Given the description of an element on the screen output the (x, y) to click on. 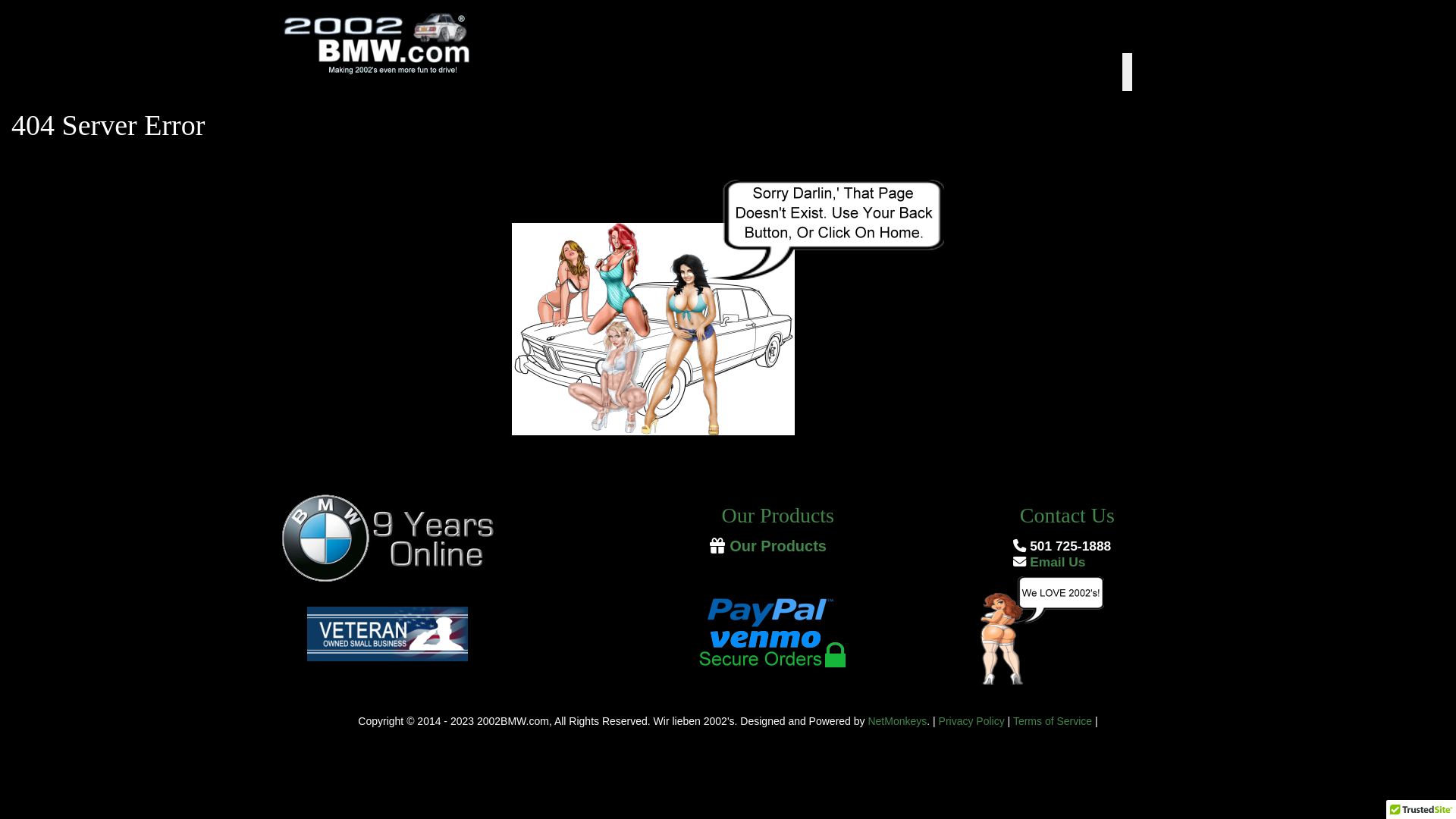
2002 BMW.com Element type: hover (416, 45)
Terms of Service Element type: text (1052, 721)
Our Products Element type: text (777, 546)
Menu Element type: text (1030, 72)
Email Us Element type: text (1049, 561)
Privacy Policy Element type: text (971, 721)
NetMonkeys Element type: text (896, 721)
